Given the description of an element on the screen output the (x, y) to click on. 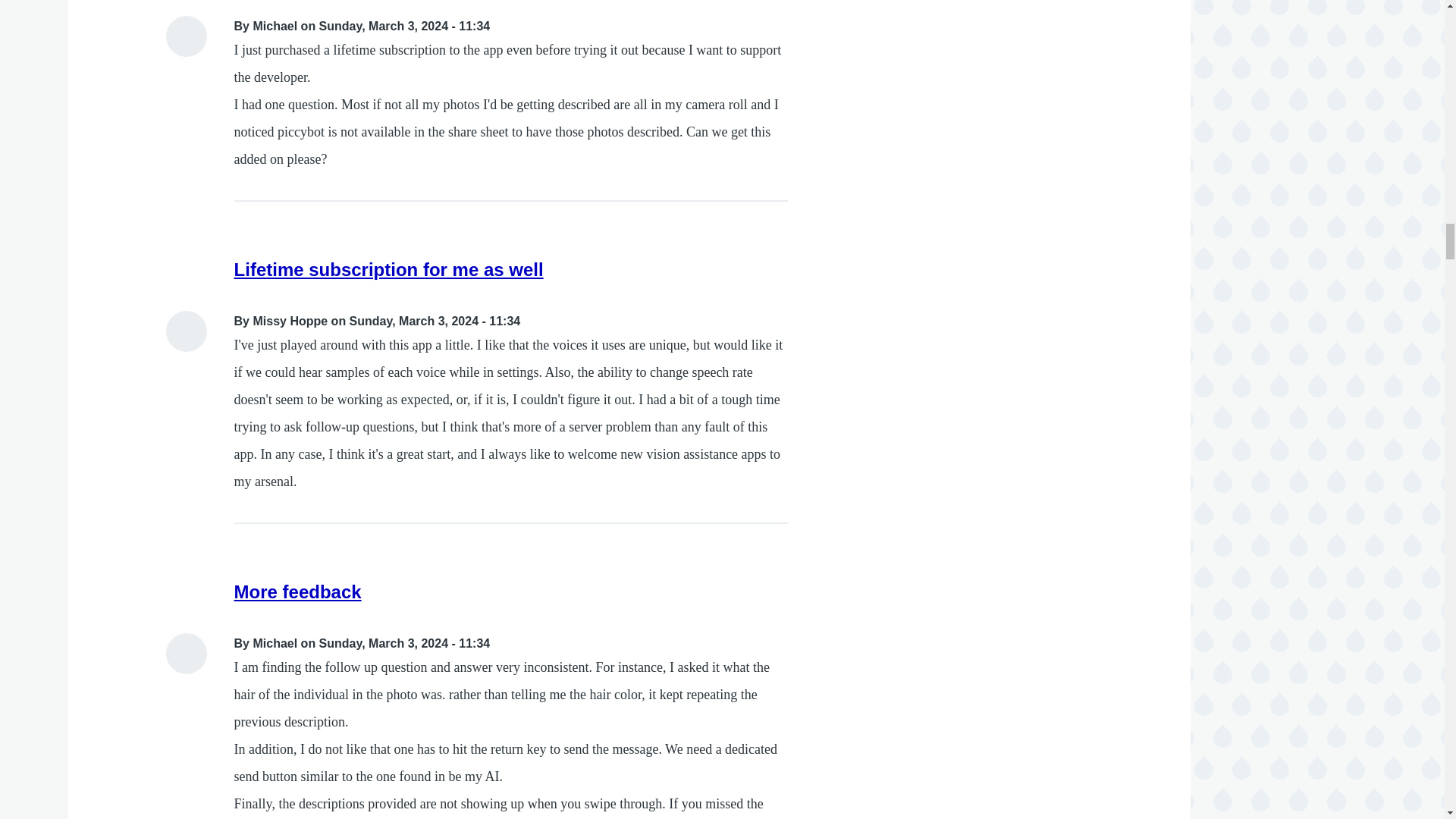
More feedback (297, 591)
Lifetime subscription for me as well (388, 269)
